Given the description of an element on the screen output the (x, y) to click on. 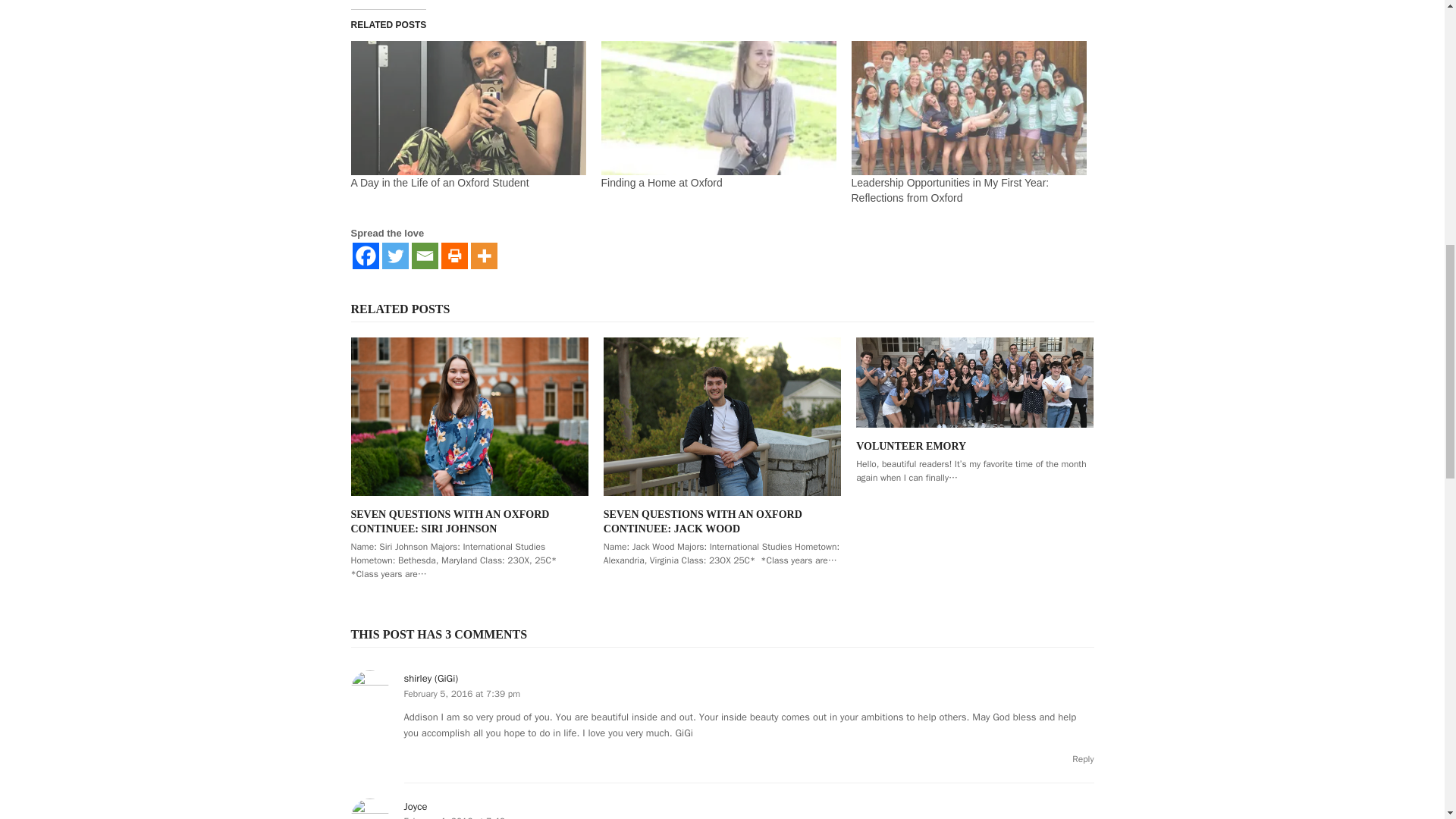
A Day in the Life of an Oxford Student (467, 107)
A Day in the Life of an Oxford Student (439, 182)
Print (454, 255)
Facebook (365, 255)
Finding a Home at Oxford (660, 182)
Twitter (395, 255)
A Day in the Life of an Oxford Student (439, 182)
Email (424, 255)
